Given the description of an element on the screen output the (x, y) to click on. 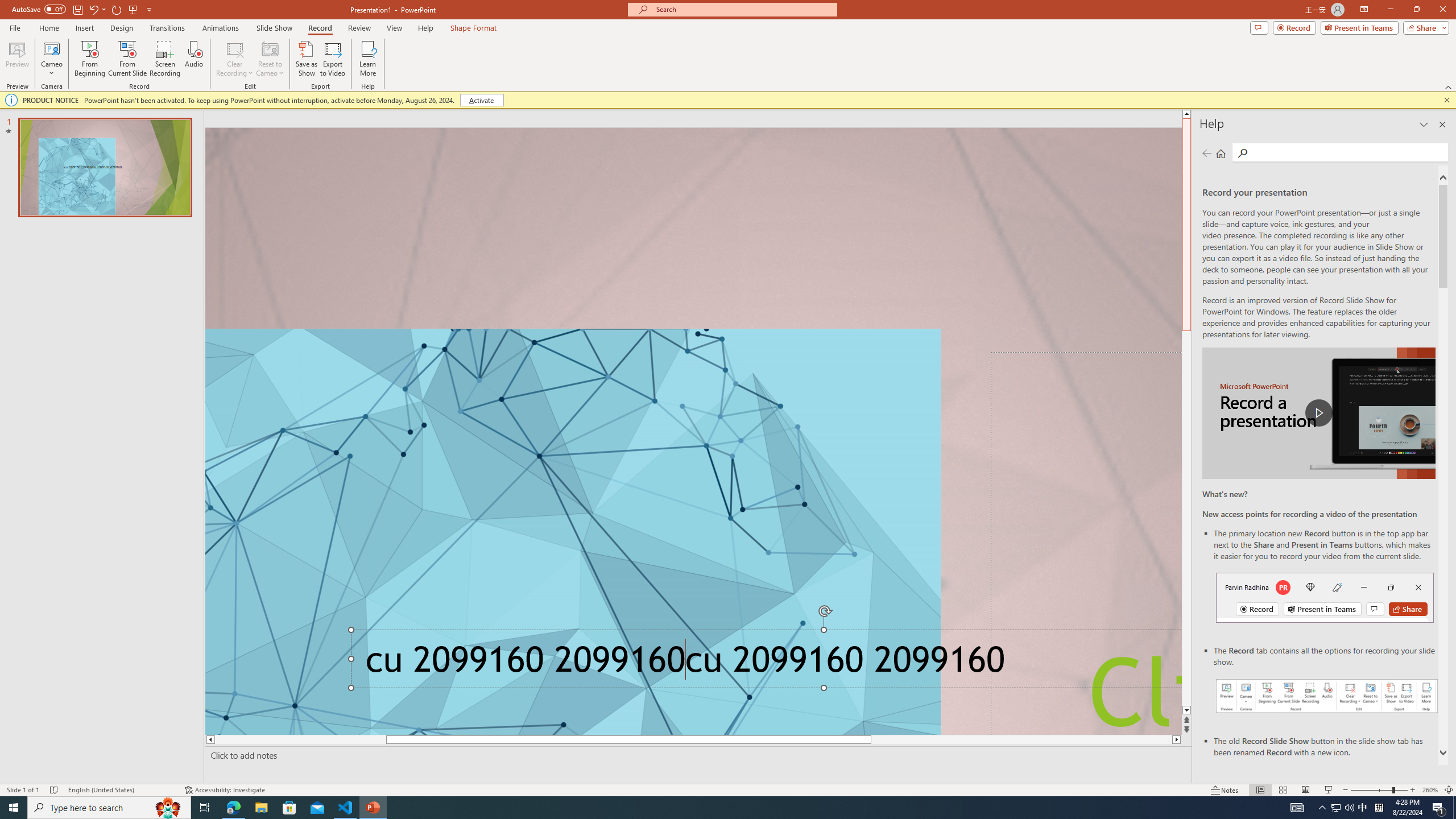
Record button in top bar (1324, 597)
Previous page (1206, 152)
